Given the description of an element on the screen output the (x, y) to click on. 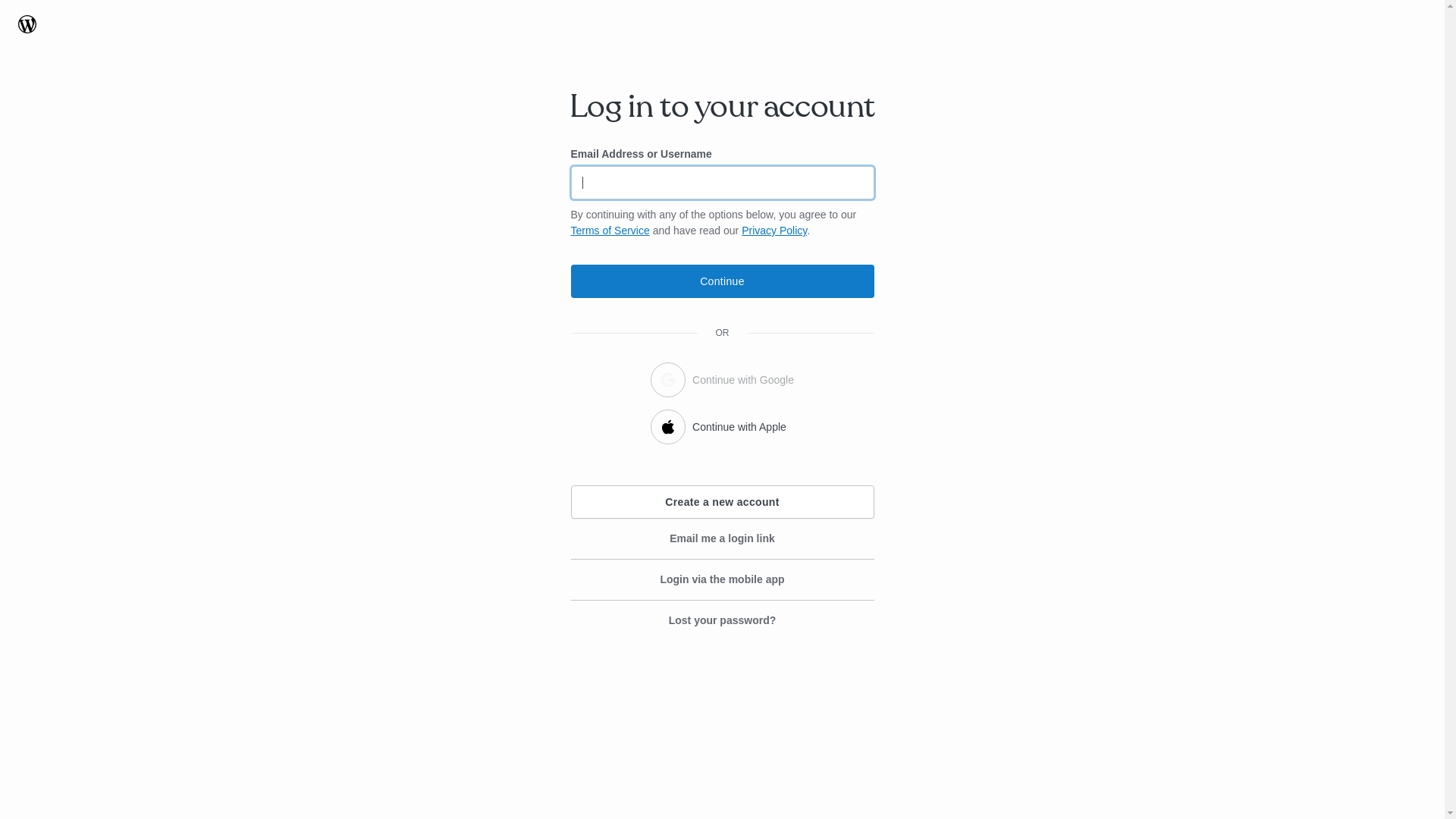
Email me a login link Element type: text (721, 538)
Continue with Apple Element type: text (721, 424)
Lost your password? Element type: text (721, 620)
Continue Element type: text (721, 281)
Login via the mobile app Element type: text (721, 579)
Privacy Policy Element type: text (773, 230)
Terms of Service Element type: text (609, 230)
Create a new account Element type: text (721, 501)
Continue with Google Element type: text (721, 377)
